Given the description of an element on the screen output the (x, y) to click on. 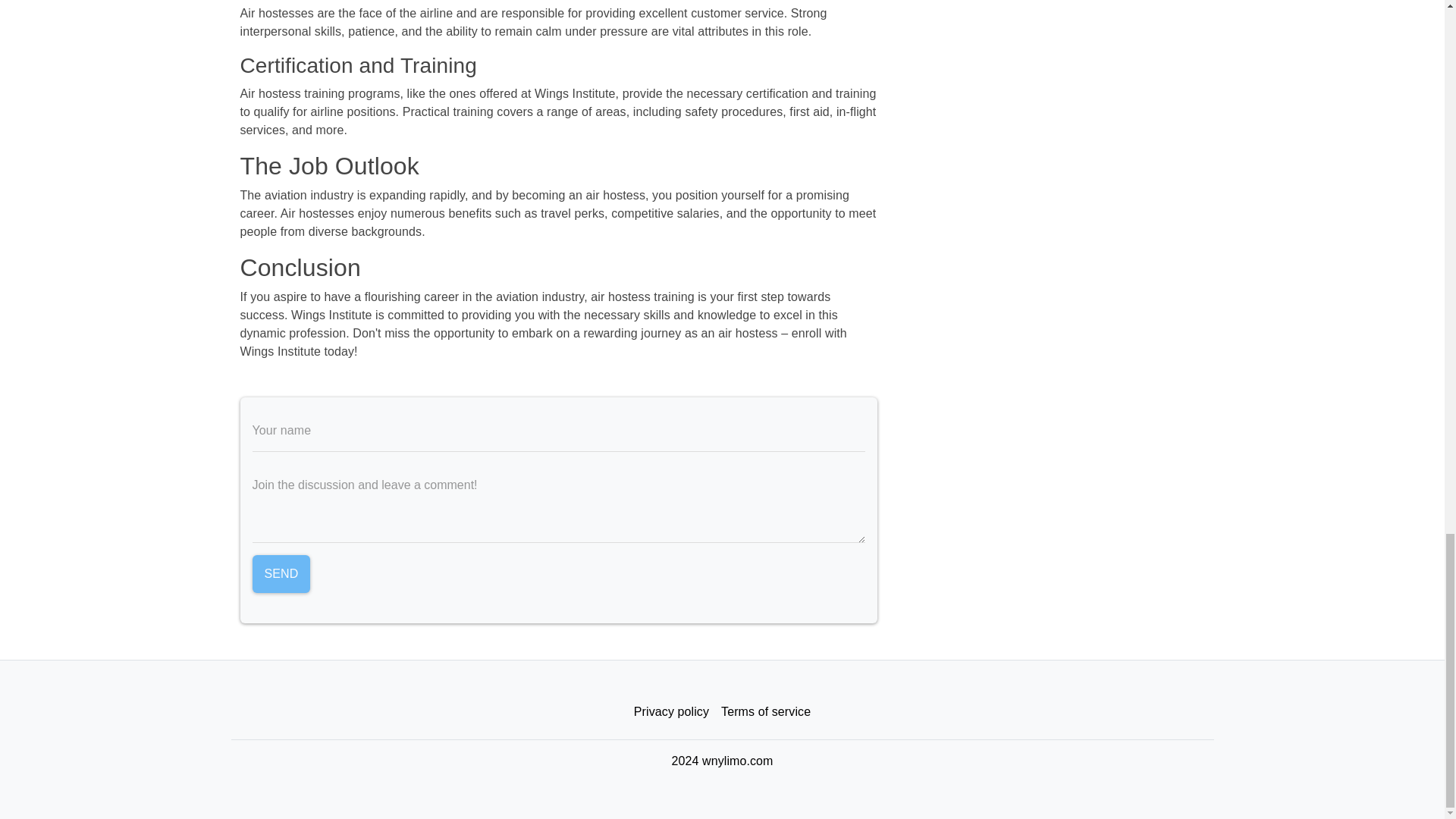
Send (280, 573)
Send (280, 573)
Privacy policy (670, 711)
Terms of service (765, 711)
